Given the description of an element on the screen output the (x, y) to click on. 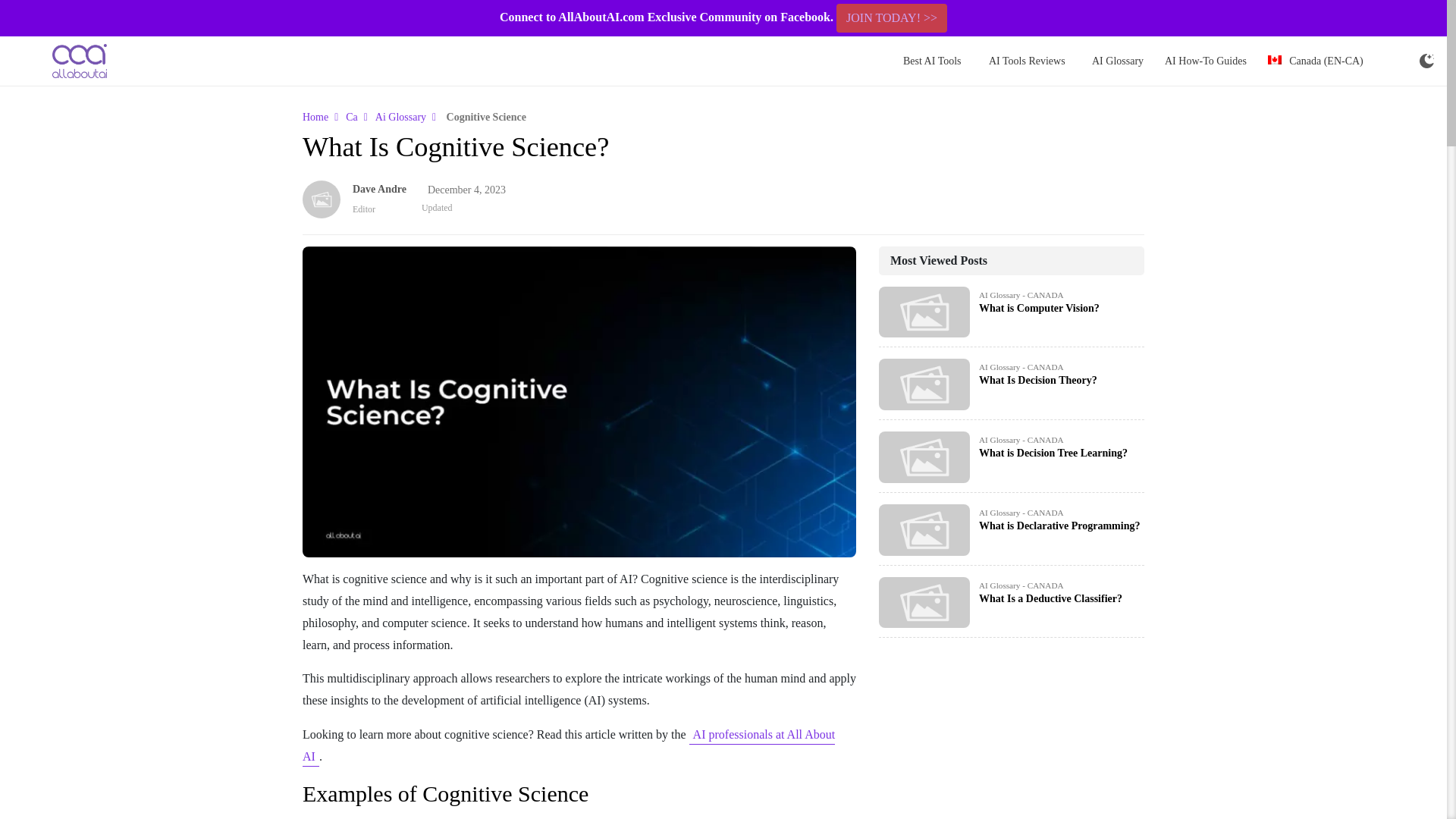
Ai Glossary (400, 116)
Home (315, 116)
Dave Andre (379, 189)
Toggle Light Theme (1425, 60)
close (1435, 18)
AI Tools Reviews (1027, 60)
Best AI Tools (932, 60)
AI Glossary (1117, 60)
AI How-To Guides (1205, 60)
